Given the description of an element on the screen output the (x, y) to click on. 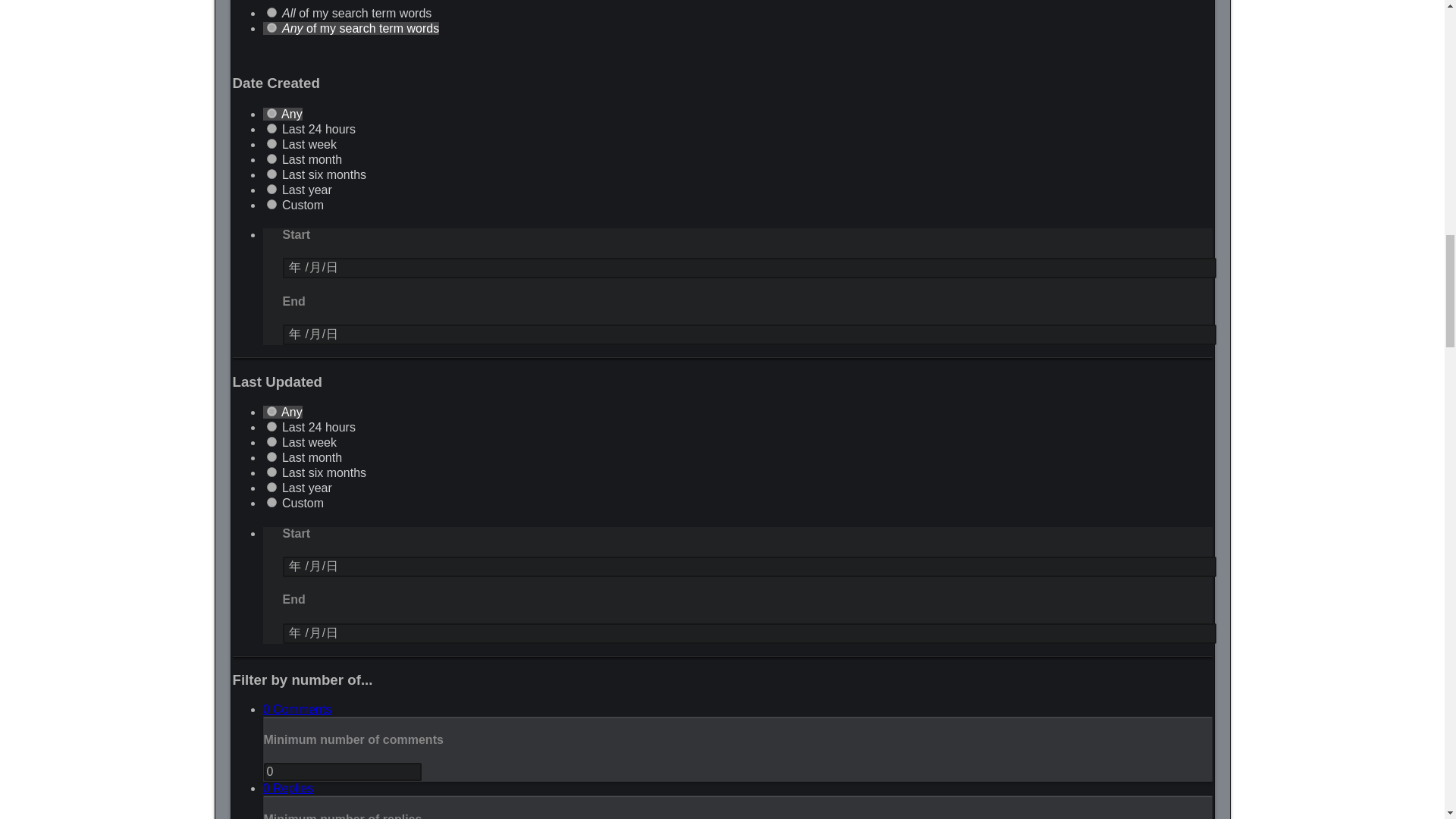
and (271, 12)
or (271, 27)
any (271, 112)
month (271, 158)
day (271, 128)
week (271, 143)
